Given the description of an element on the screen output the (x, y) to click on. 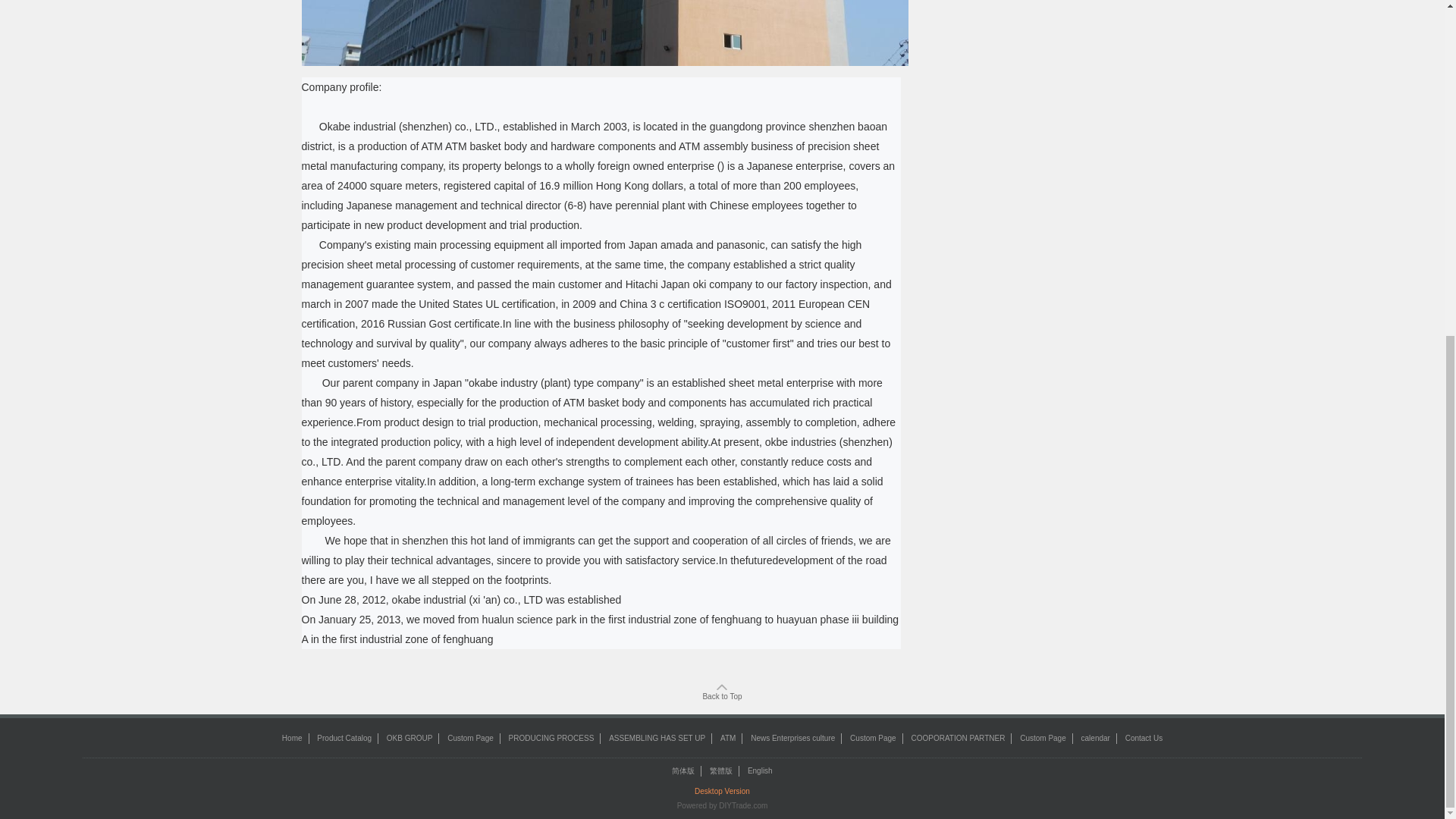
Home (292, 737)
Desktop Version (721, 791)
OKB GROUP (409, 737)
Product Catalog (344, 737)
PRODUCING PROCESS (551, 737)
Back to Top (721, 692)
English (760, 770)
Custom Page (1042, 737)
Product Catalog (344, 737)
Contact Us (1143, 737)
COOPORATION PARTNER (957, 737)
OKB GROUP (409, 737)
ATM (727, 737)
Home (292, 737)
Custom Page (873, 737)
